Given the description of an element on the screen output the (x, y) to click on. 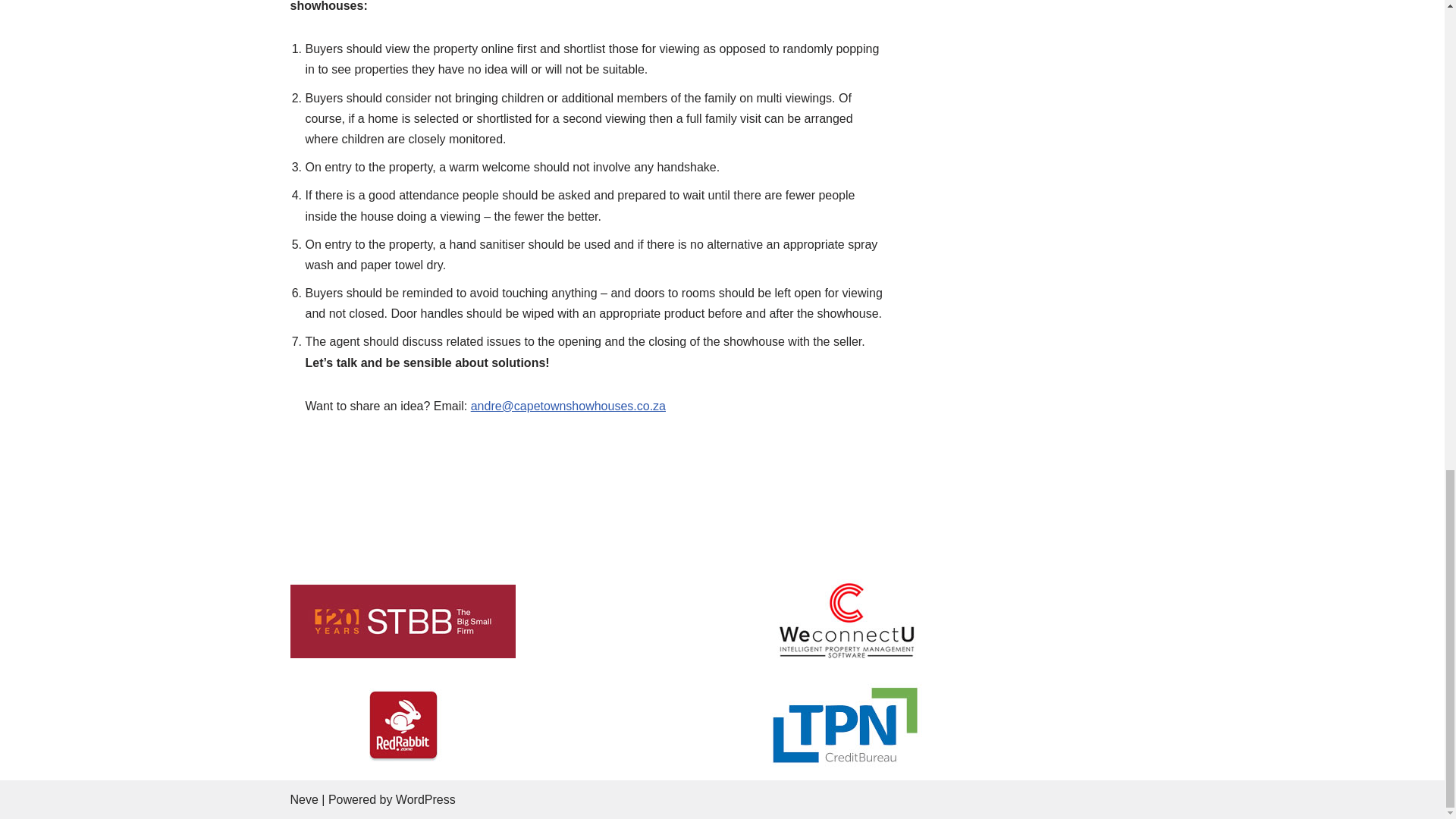
Neve (303, 799)
WordPress (425, 799)
